Given the description of an element on the screen output the (x, y) to click on. 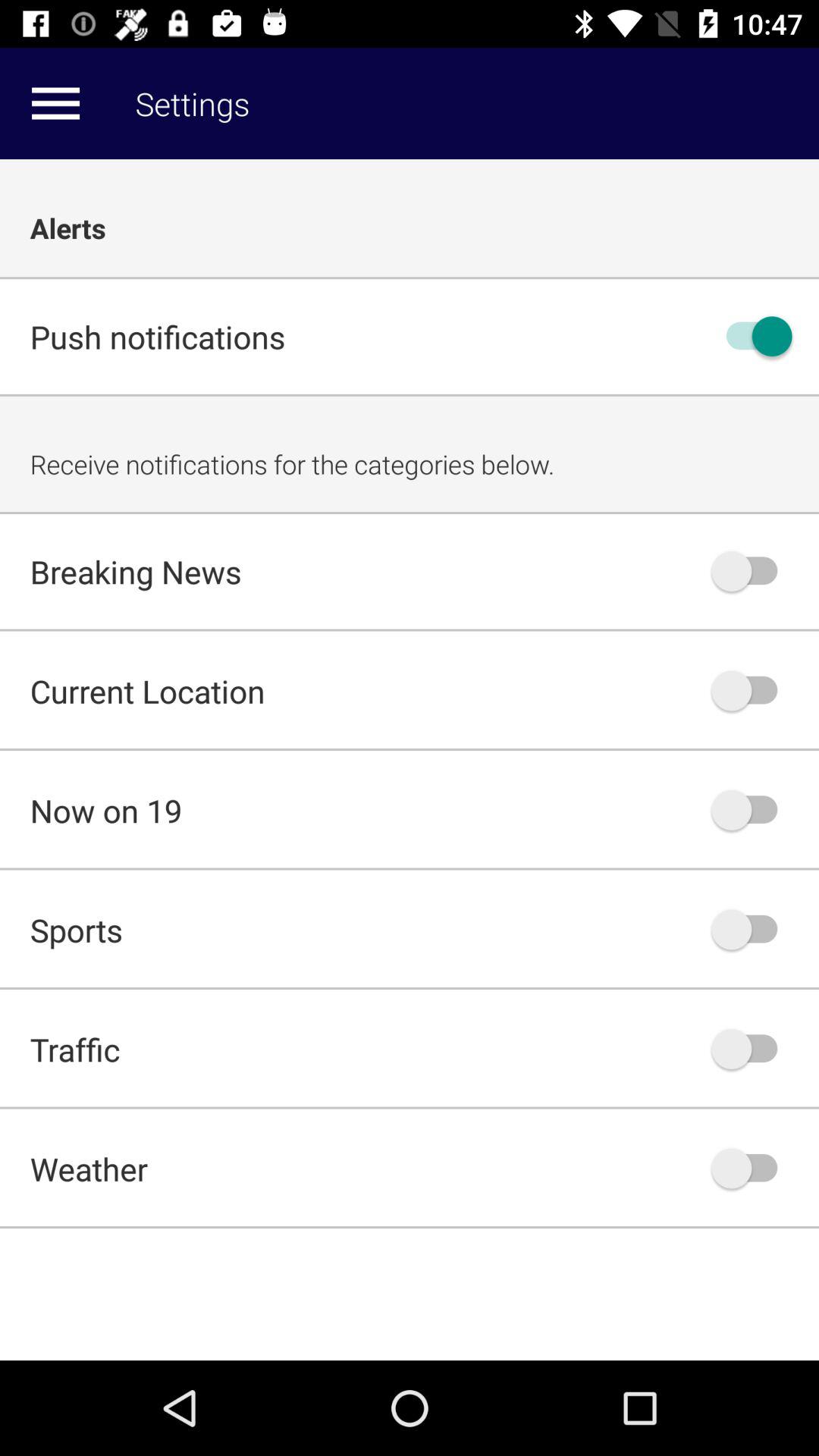
toggle push notifications (751, 336)
